Given the description of an element on the screen output the (x, y) to click on. 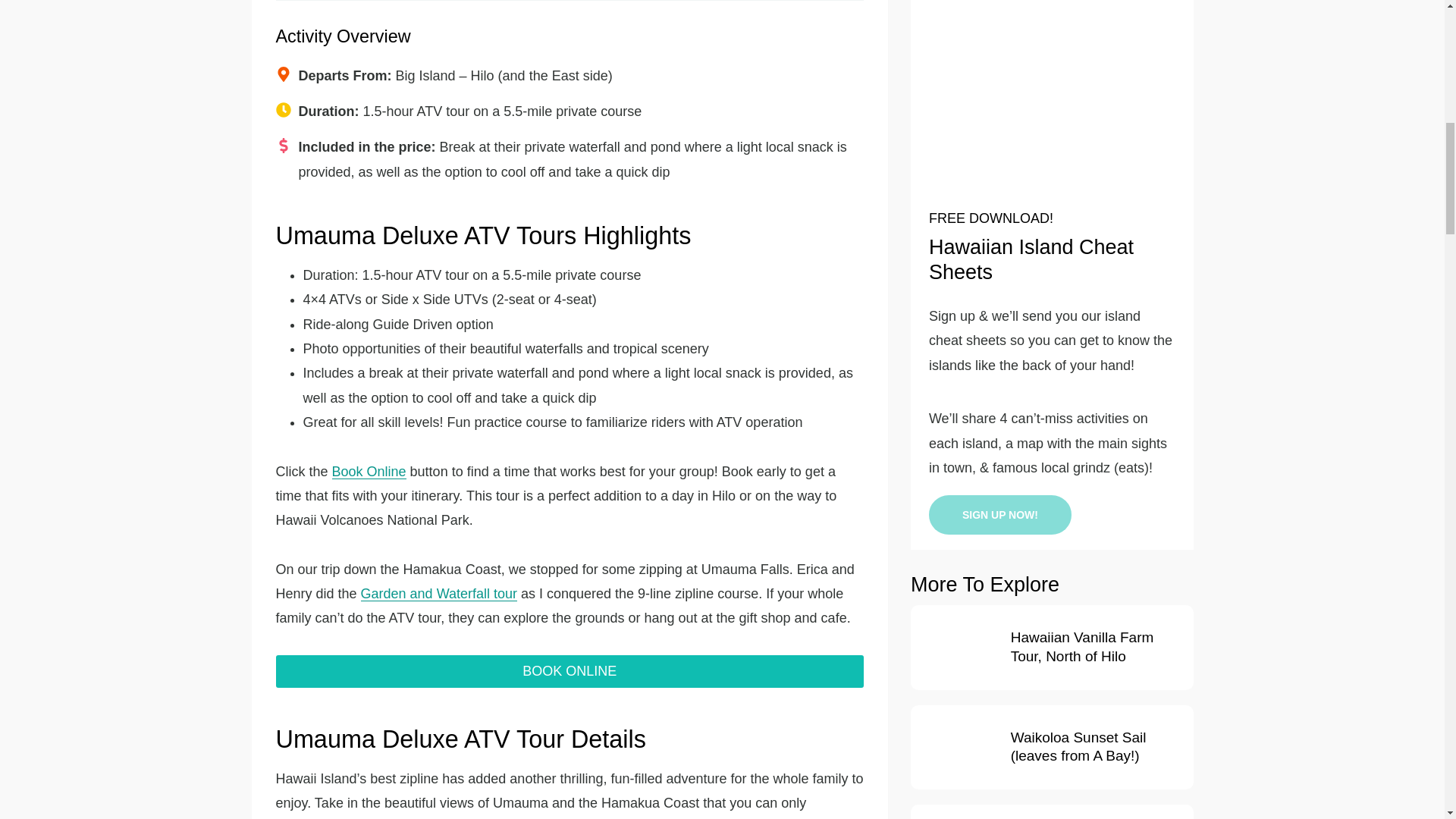
Book Online (368, 471)
Garden and Waterfall tour (438, 593)
BOOK ONLINE (569, 671)
